Given the description of an element on the screen output the (x, y) to click on. 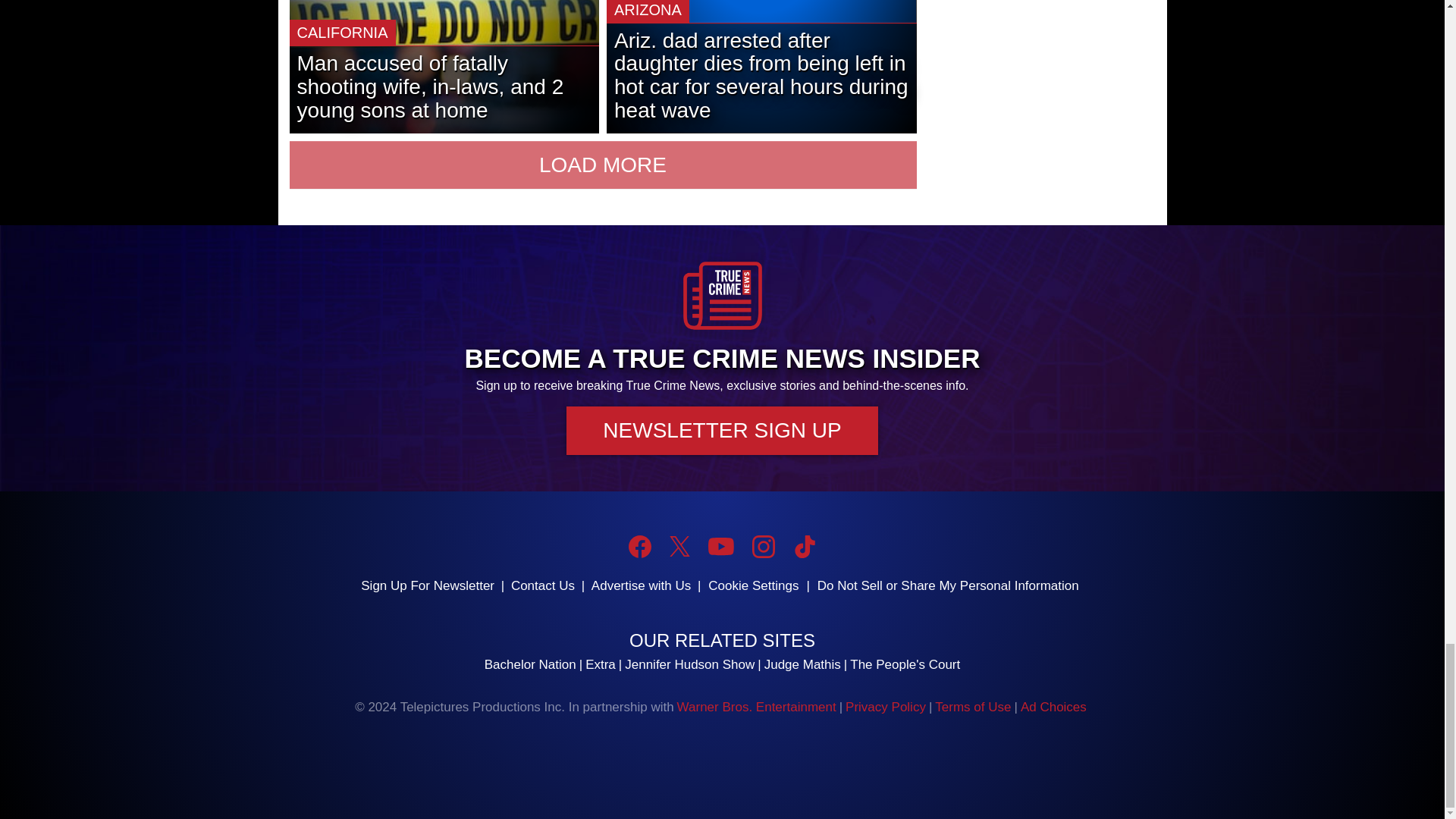
TikTok (804, 546)
Facebook (639, 546)
YouTube (720, 546)
Instagram (763, 546)
Twitter (679, 546)
